Given the description of an element on the screen output the (x, y) to click on. 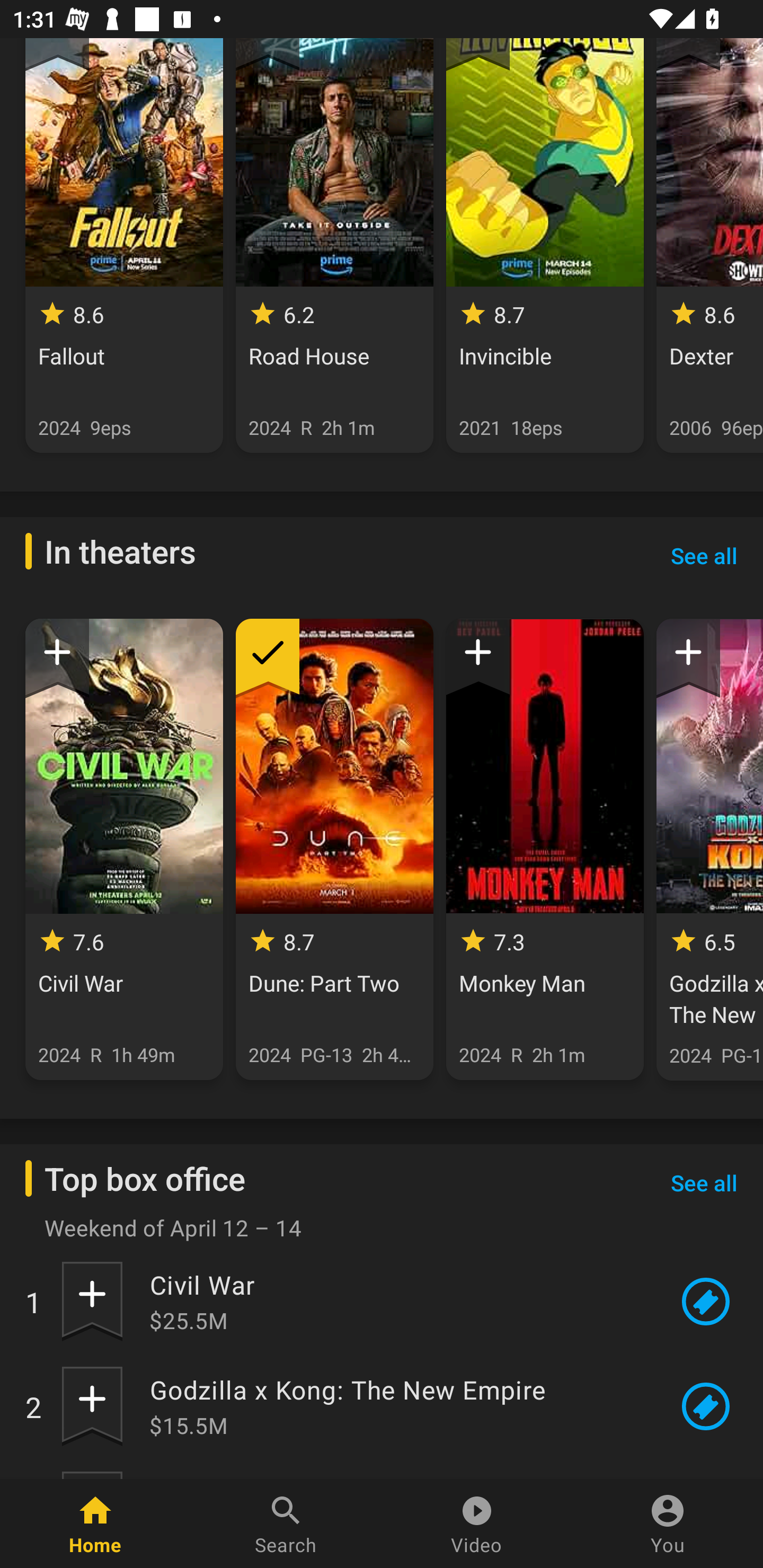
8.6 Fallout 2024  9eps (123, 245)
6.2 Road House 2024  R  2h 1m (334, 245)
8.7 Invincible 2021  18eps (544, 245)
See all See all In theaters (703, 555)
7.6 Civil War 2024  R  1h 49m (123, 849)
8.7 Dune: Part Two 2024  PG-13  2h 46m (334, 849)
7.3 Monkey Man 2024  R  2h 1m (544, 849)
See all See all Top box office (703, 1182)
Civil War $25.5M (398, 1300)
Godzilla x Kong: The New Empire $15.5M (398, 1406)
Ghostbusters: Frozen Empire (398, 1477)
Search (285, 1523)
Video (476, 1523)
You (667, 1523)
